Given the description of an element on the screen output the (x, y) to click on. 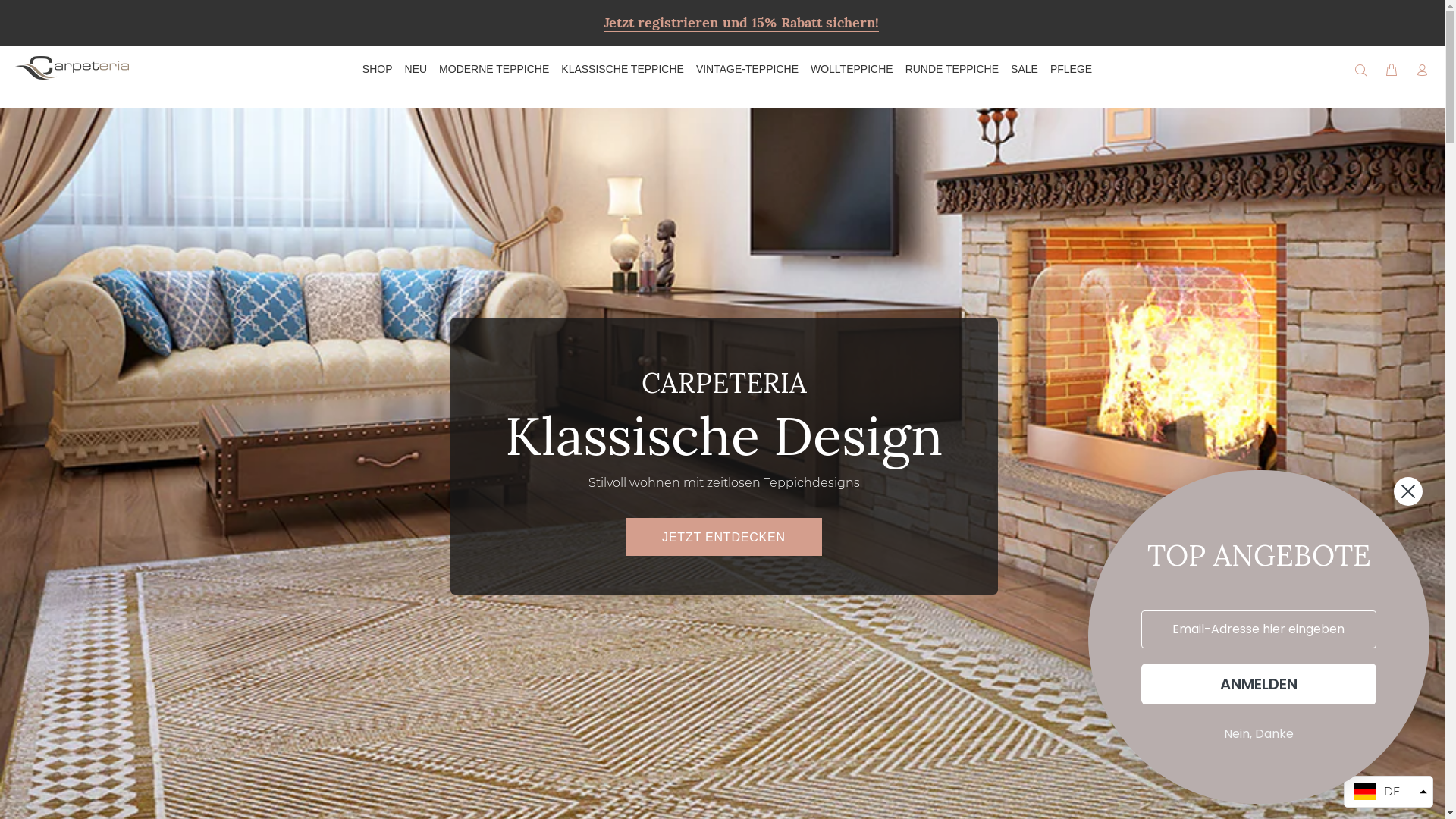
ANMELDEN Element type: text (1258, 682)
PFLEGE Element type: text (1068, 69)
Nein, Danke Element type: text (1258, 732)
KLASSISCHE TEPPICHE Element type: text (622, 69)
RUNDE TEPPICHE Element type: text (951, 69)
WOLLTEPPICHE Element type: text (851, 69)
Submit Element type: text (28, 9)
SALE Element type: text (1024, 69)
Jetzt registrieren und 15% Rabatt sichern! Element type: text (740, 22)
NEU Element type: text (415, 69)
SHOP Element type: text (375, 69)
JETZT ENTDECKEN Element type: text (723, 536)
VINTAGE-TEPPICHE Element type: text (747, 69)
MODERNE TEPPICHE Element type: text (494, 69)
